Given the description of an element on the screen output the (x, y) to click on. 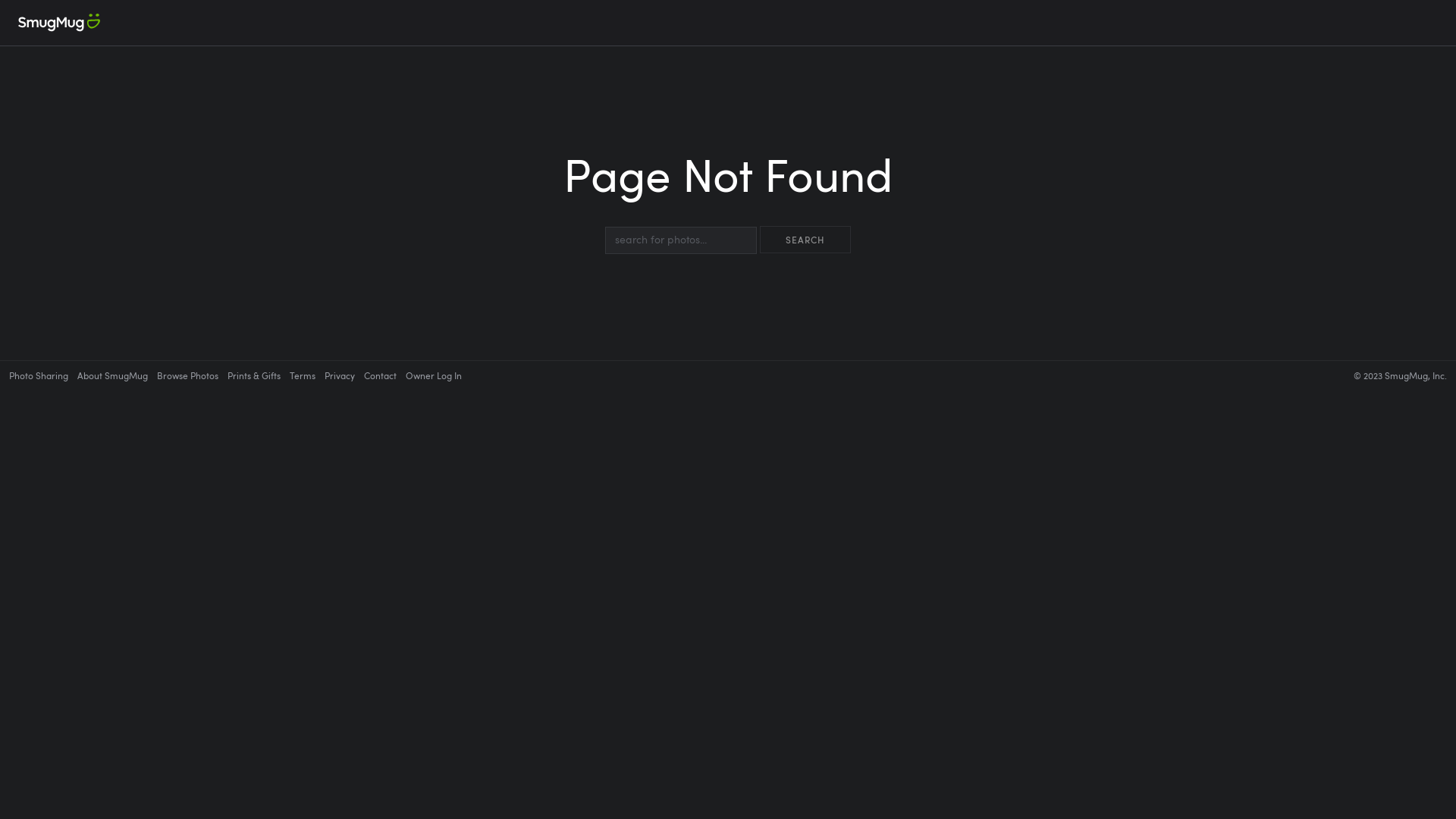
Terms Element type: text (302, 375)
SEARCH Element type: text (804, 239)
About SmugMug Element type: text (112, 375)
Contact Element type: text (380, 375)
SmugMug Element type: hover (59, 22)
Photo Sharing Element type: text (38, 375)
Page Not Found Element type: text (727, 187)
Owner Log In Element type: text (433, 375)
Prints & Gifts Element type: text (253, 375)
Browse Photos Element type: text (187, 375)
Privacy Element type: text (339, 375)
